Given the description of an element on the screen output the (x, y) to click on. 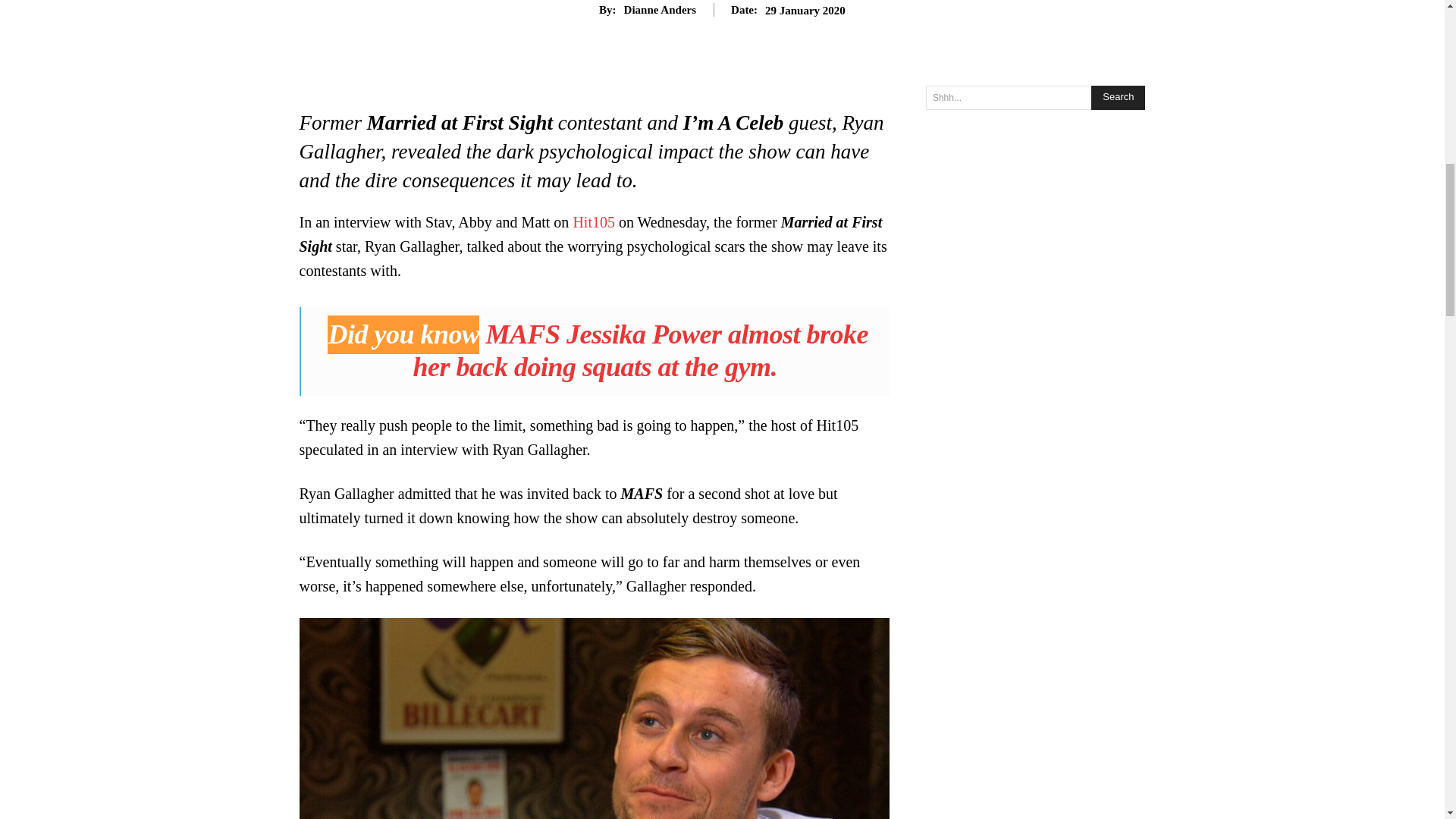
Dianne Anders (659, 9)
Hit105 (593, 221)
Search (1117, 97)
